Given the description of an element on the screen output the (x, y) to click on. 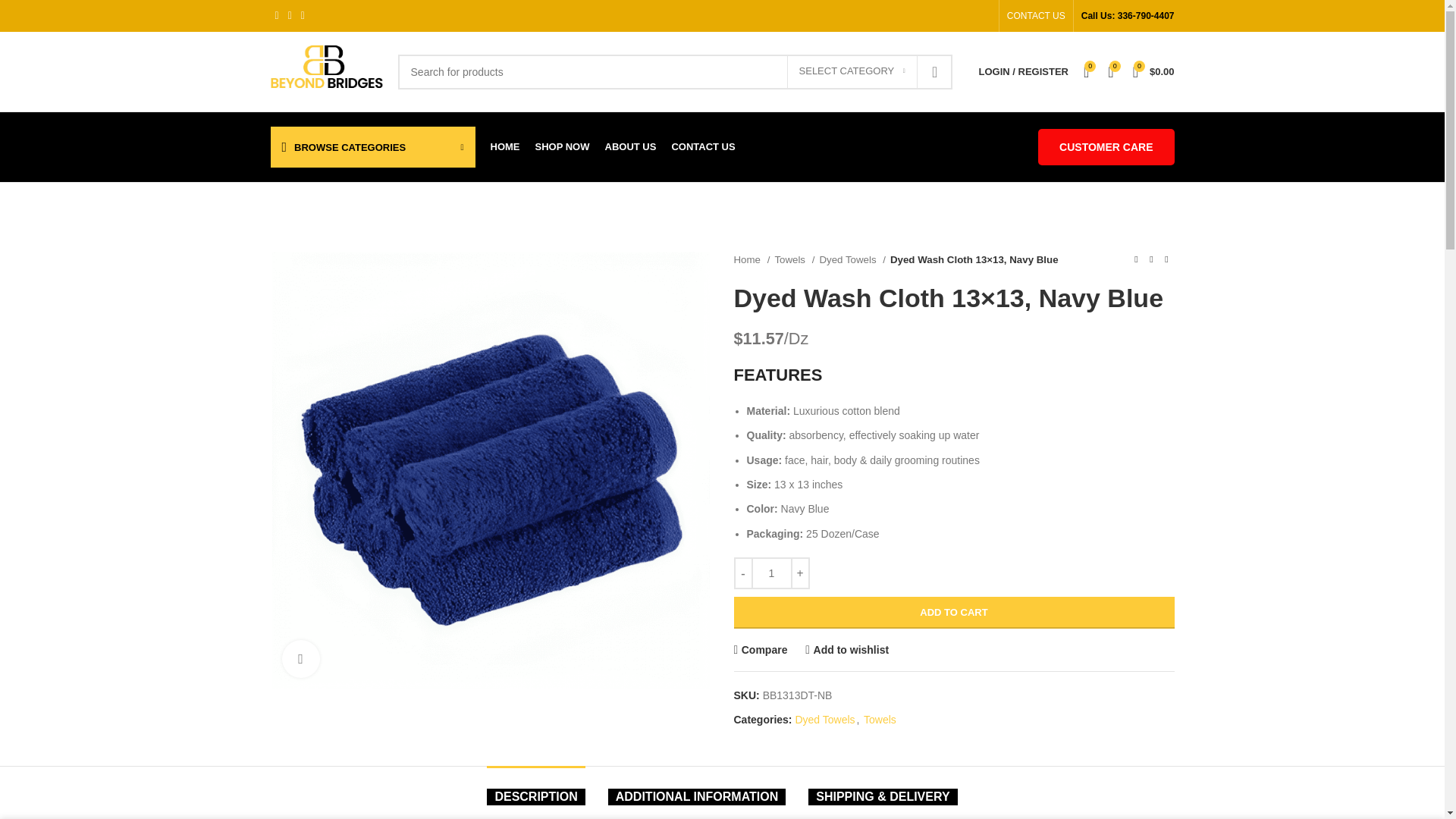
My account (1023, 71)
1 (771, 572)
SELECT CATEGORY (852, 71)
Shopping cart (1153, 71)
Call Us: 336-790-4407 (1127, 15)
CONTACT US (1036, 15)
Search for products (674, 71)
SELECT CATEGORY (852, 71)
